Given the description of an element on the screen output the (x, y) to click on. 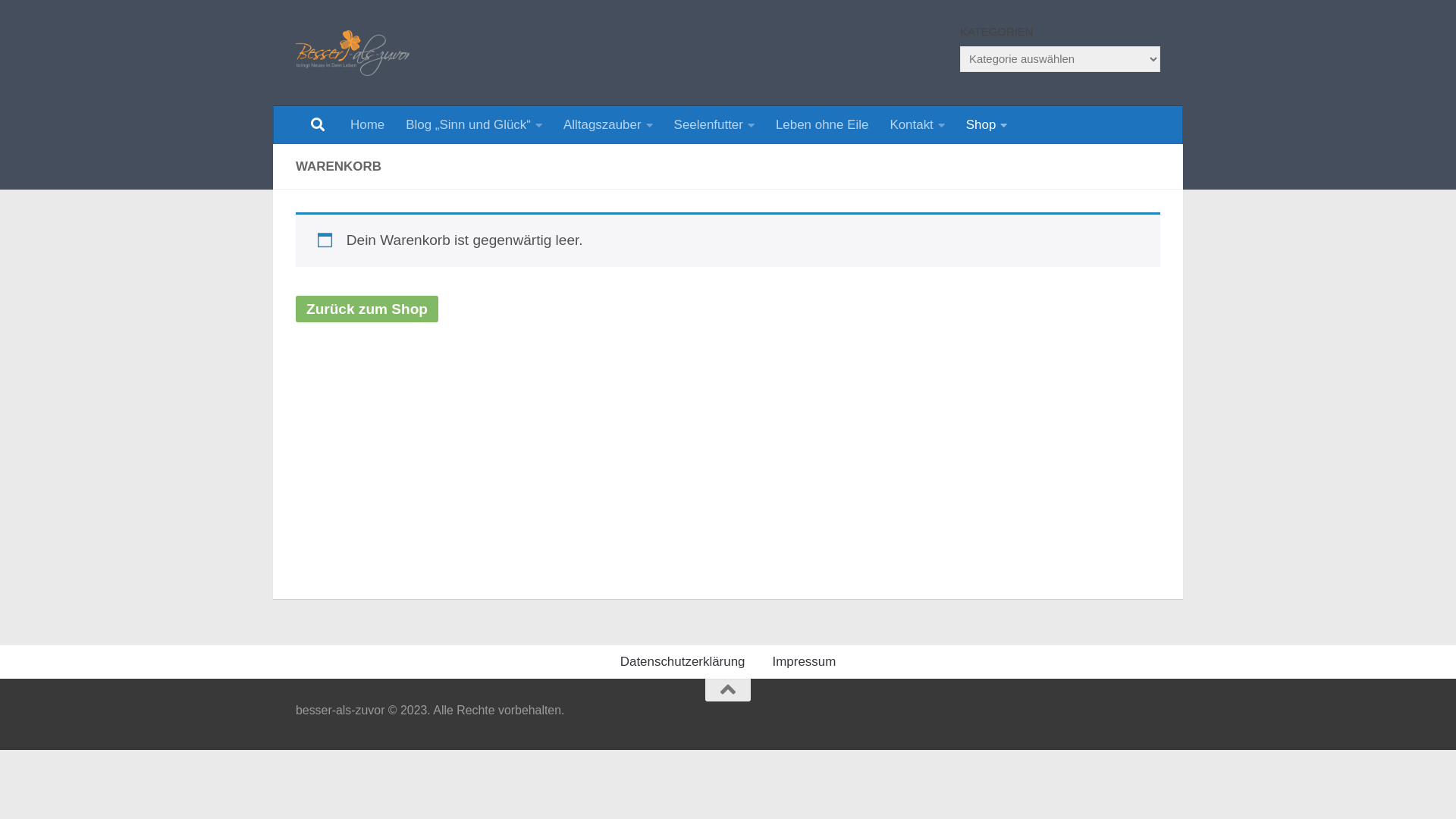
Kontakt Element type: text (916, 125)
Shop Element type: text (986, 125)
Home Element type: text (367, 125)
Zum Inhalt springen Element type: text (81, 21)
Leben ohne Eile Element type: text (821, 125)
Seelenfutter Element type: text (714, 125)
Alltagszauber Element type: text (607, 125)
besser-als-zuvor | Startseite Element type: hover (352, 52)
Impressum Element type: text (803, 661)
